Given the description of an element on the screen output the (x, y) to click on. 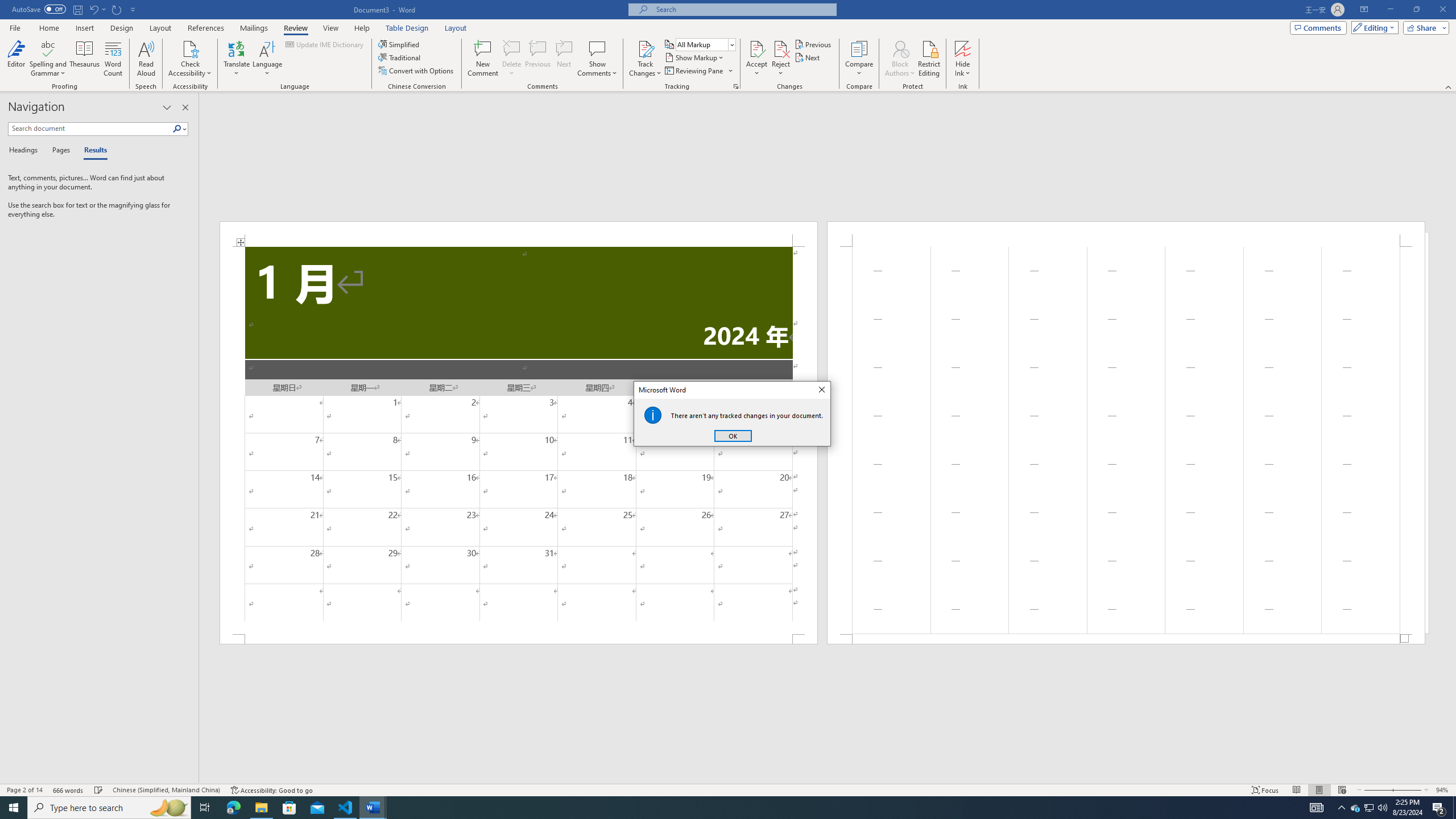
Traditional (400, 56)
Simplified (400, 44)
Reviewing Pane (694, 69)
Spelling and Grammar (48, 48)
Compare (859, 58)
Change Tracking Options... (735, 85)
Reviewing Pane (698, 69)
